Given the description of an element on the screen output the (x, y) to click on. 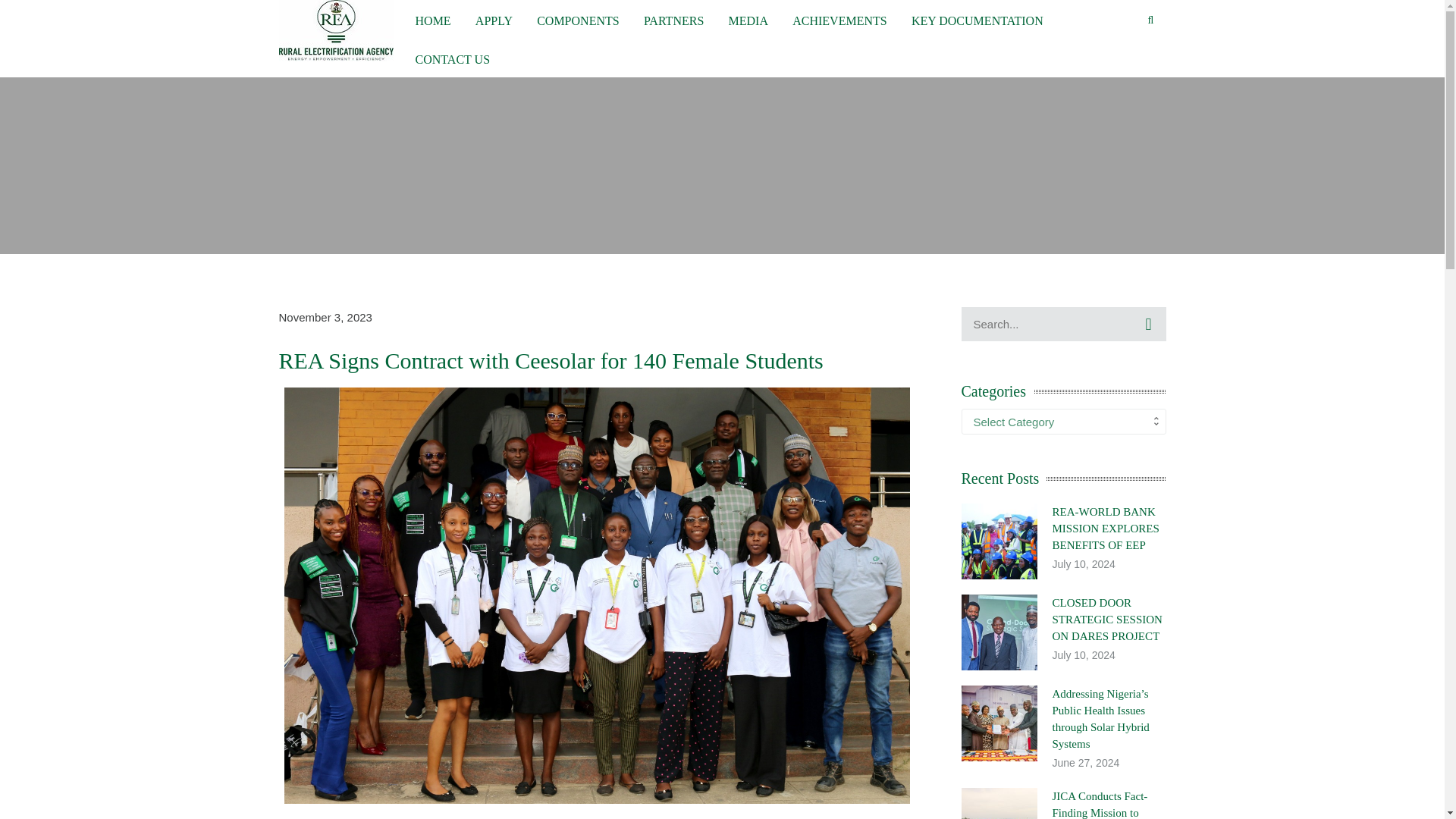
JICA Conducts Fact-Finding Mission to Advance DARES Support (1100, 804)
HOME (432, 19)
COMPONENTS (578, 19)
CLOSED DOOR STRATEGIC SESSION ON DARES PROJECT (1106, 619)
MEDIA (748, 19)
REA-WORLD BANK MISSION EXPLORES BENEFITS OF EEP (1105, 528)
APPLY (494, 19)
PARTNERS (673, 19)
